Given the description of an element on the screen output the (x, y) to click on. 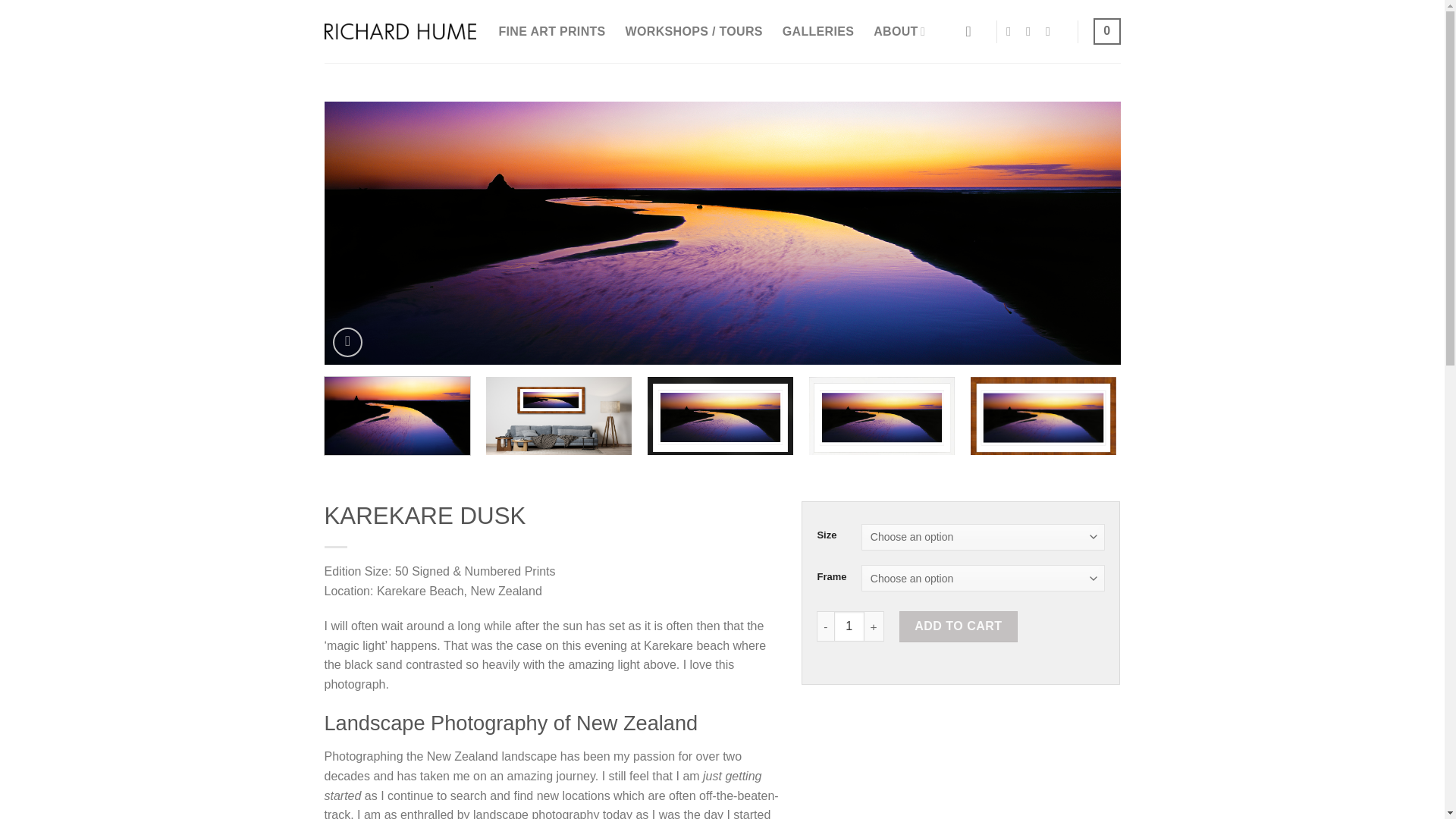
Zoom (347, 342)
FINE ART PRINTS (552, 31)
1 (849, 625)
GALLERIES (818, 31)
ABOUT (898, 30)
